Given the description of an element on the screen output the (x, y) to click on. 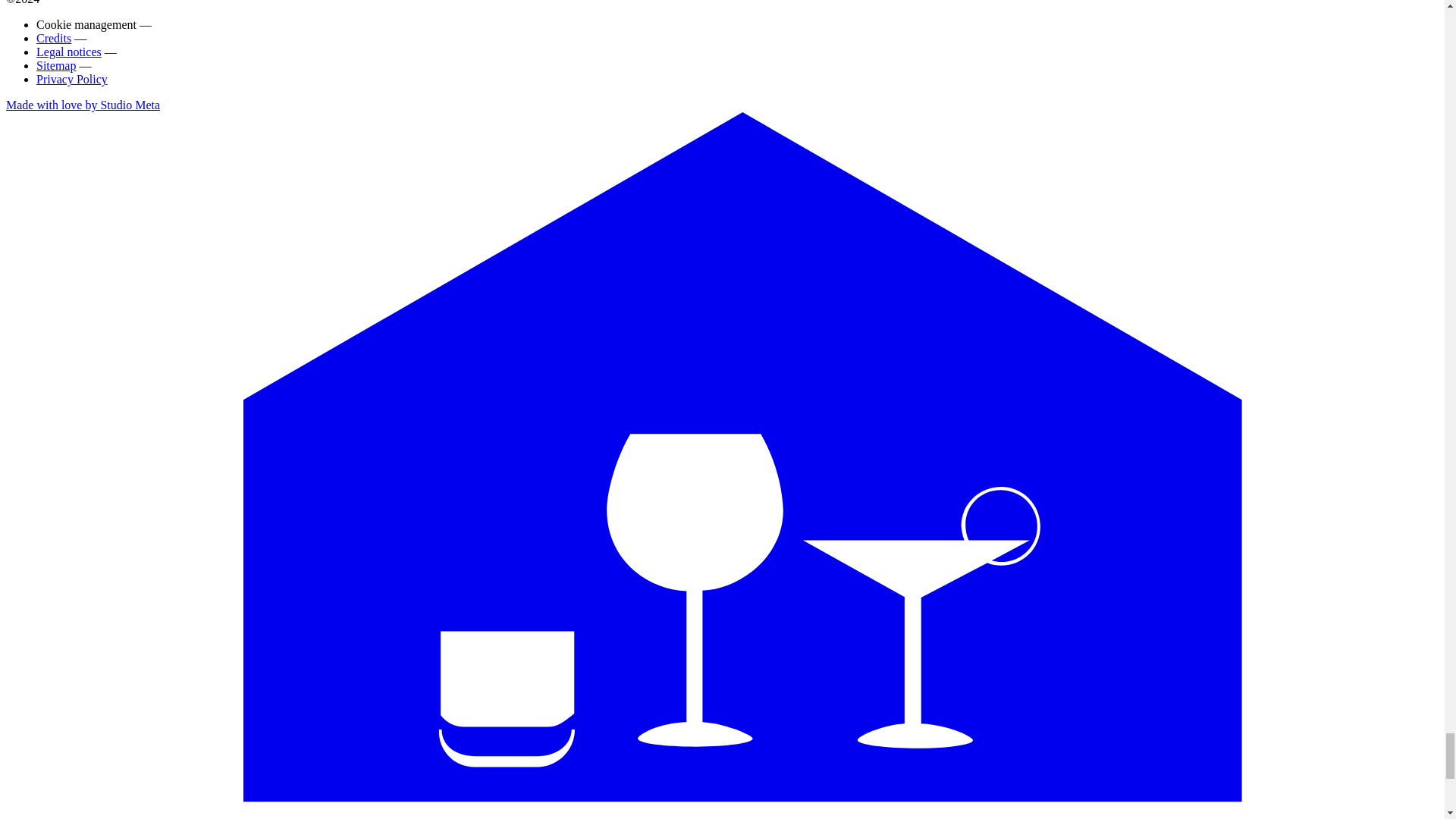
Sitemap (55, 65)
